Given the description of an element on the screen output the (x, y) to click on. 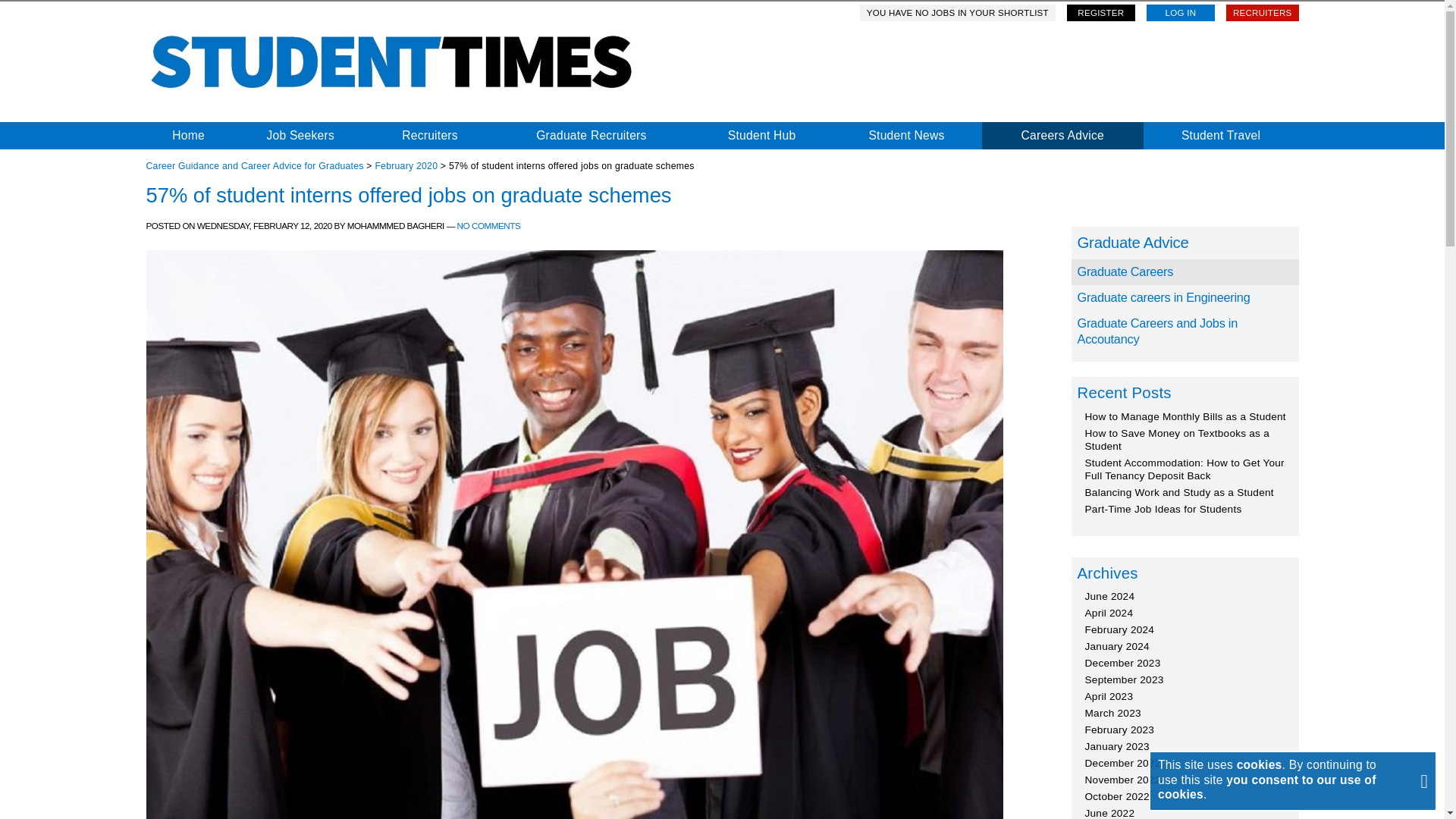
Student Travel (1220, 135)
YOU HAVE NO JOBS IN YOUR SHORTLIST (957, 12)
Student Hub (762, 135)
Balancing Work and Study as a Student (1178, 491)
How to Manage Monthly Bills as a Student (1184, 416)
Home (187, 135)
Graduate Careers and Jobs in Accoutancy (1184, 331)
Careers Advice (1061, 135)
February 2020 (406, 165)
June 2024 (1109, 595)
